Given the description of an element on the screen output the (x, y) to click on. 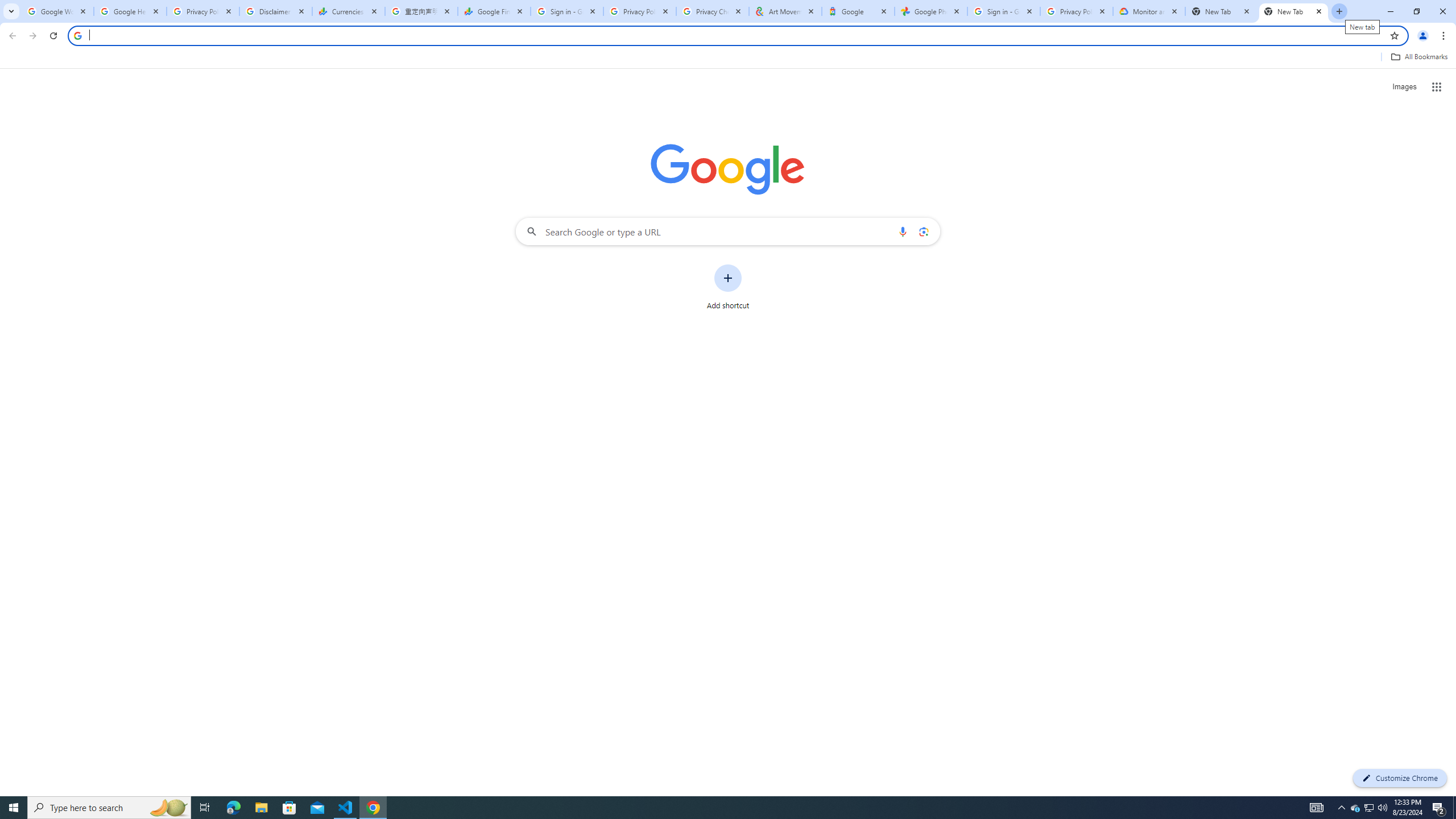
New Tab (1221, 11)
Google (857, 11)
